Given the description of an element on the screen output the (x, y) to click on. 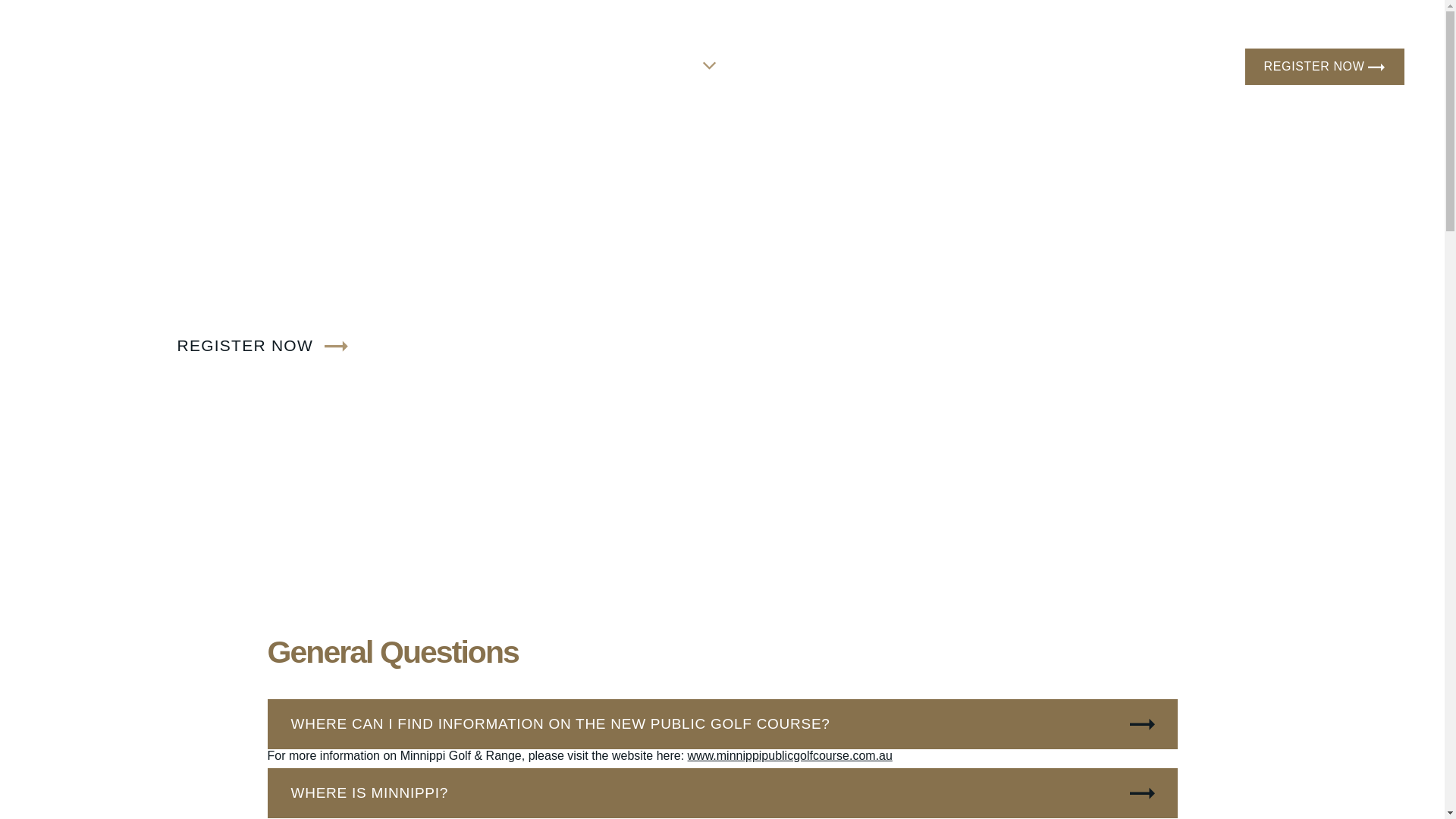
LAND FOR SALE Element type: text (801, 64)
REGISTER NOW Element type: text (262, 344)
BUILDING Element type: text (919, 64)
REGISTER NOW Element type: text (1324, 66)
LIFE AT MINNIPPI Element type: text (637, 64)
www.minnippipublicgolfcourse.com.au Element type: text (789, 755)
CONTACT US Element type: text (1154, 64)
LATEST NEWS Element type: text (1031, 64)
